Given the description of an element on the screen output the (x, y) to click on. 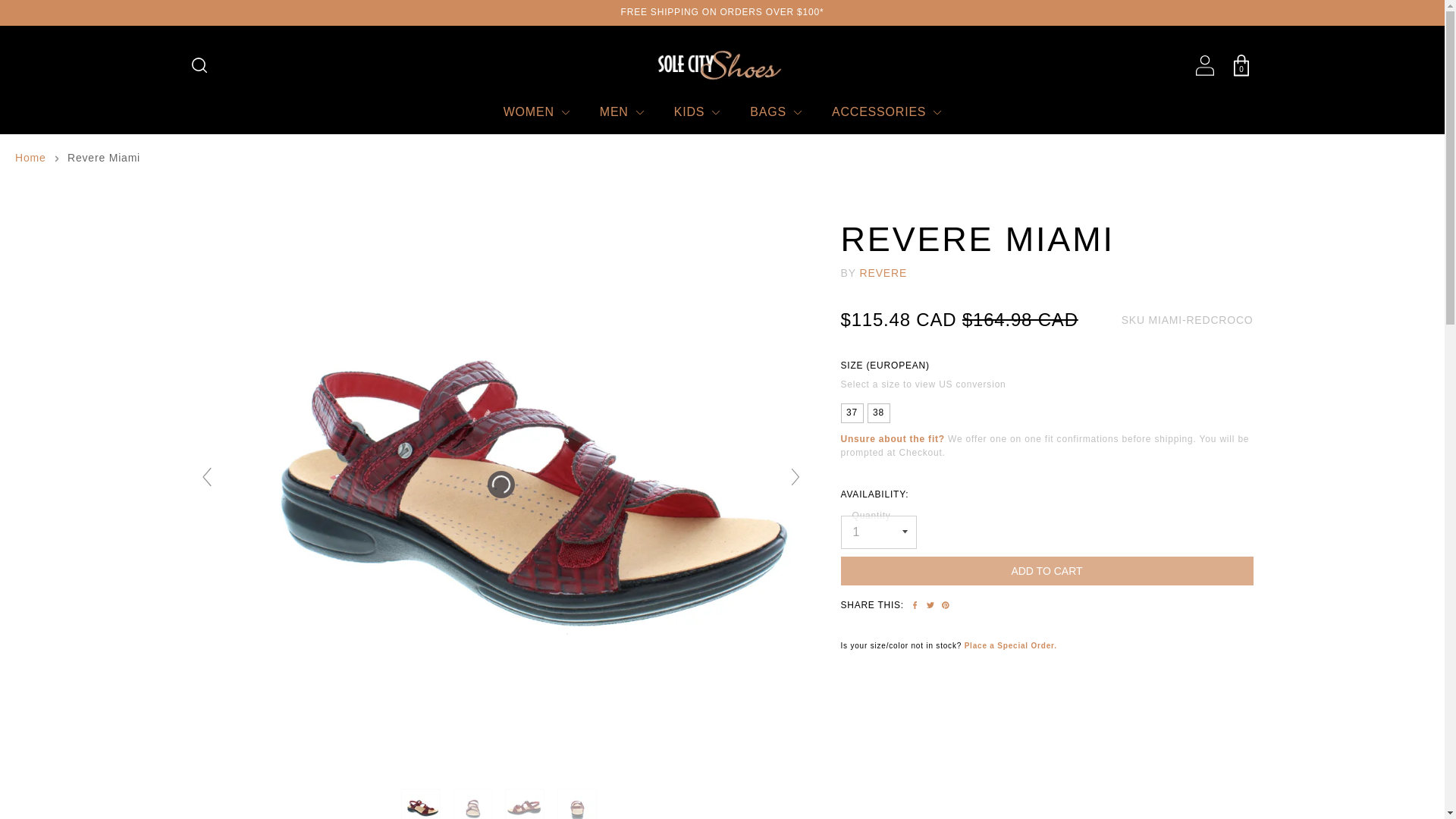
Account (1203, 65)
Open Cart (1240, 65)
Revere Miami (422, 804)
Revere Miami (475, 804)
Home (30, 157)
Revere Miami (578, 804)
Search (198, 64)
Revere Miami (526, 804)
Sole City Shoes (722, 65)
